Given the description of an element on the screen output the (x, y) to click on. 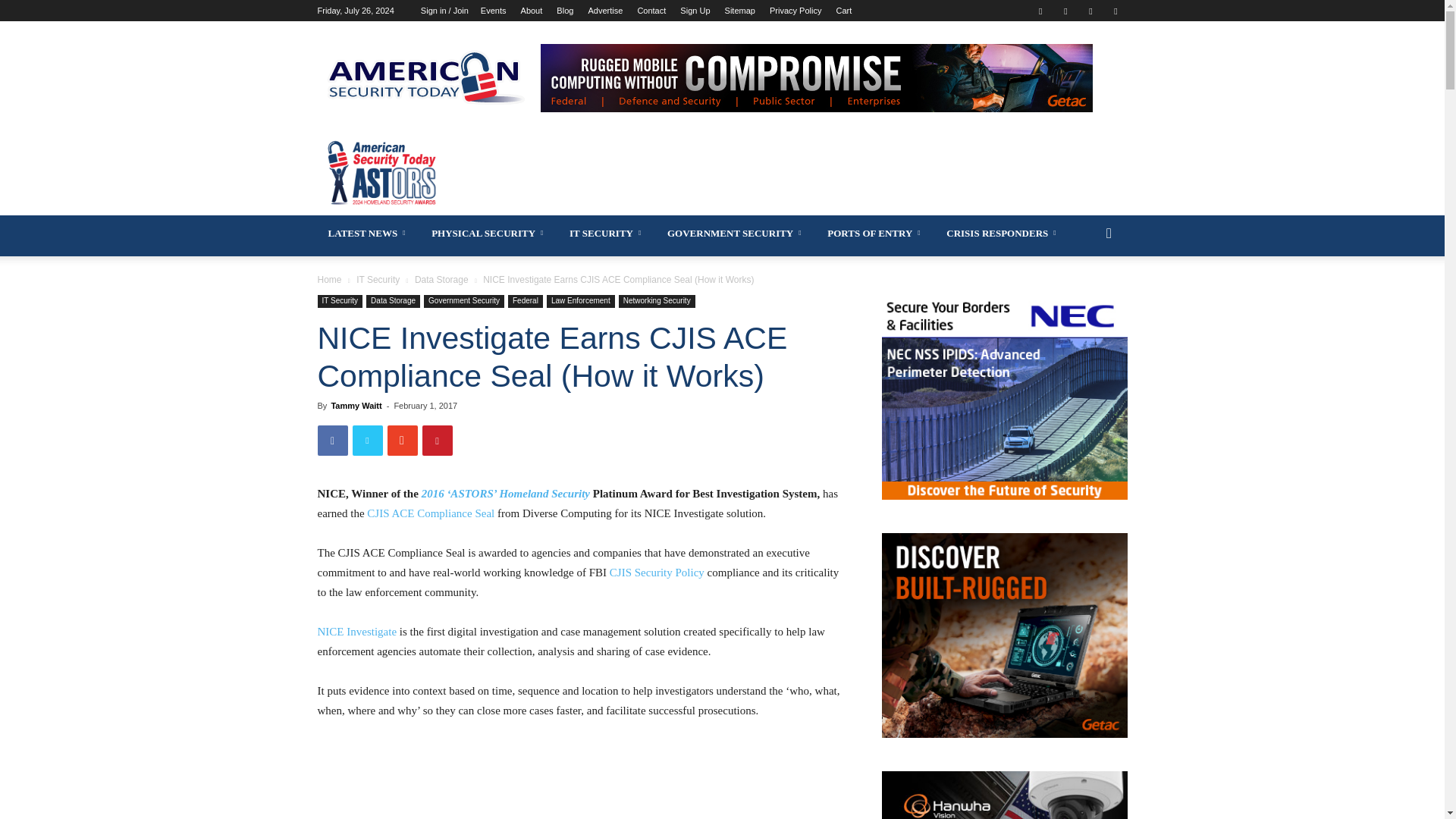
Youtube (1114, 10)
Facebook (1040, 10)
Twitter (1090, 10)
Linkedin (1065, 10)
